Given the description of an element on the screen output the (x, y) to click on. 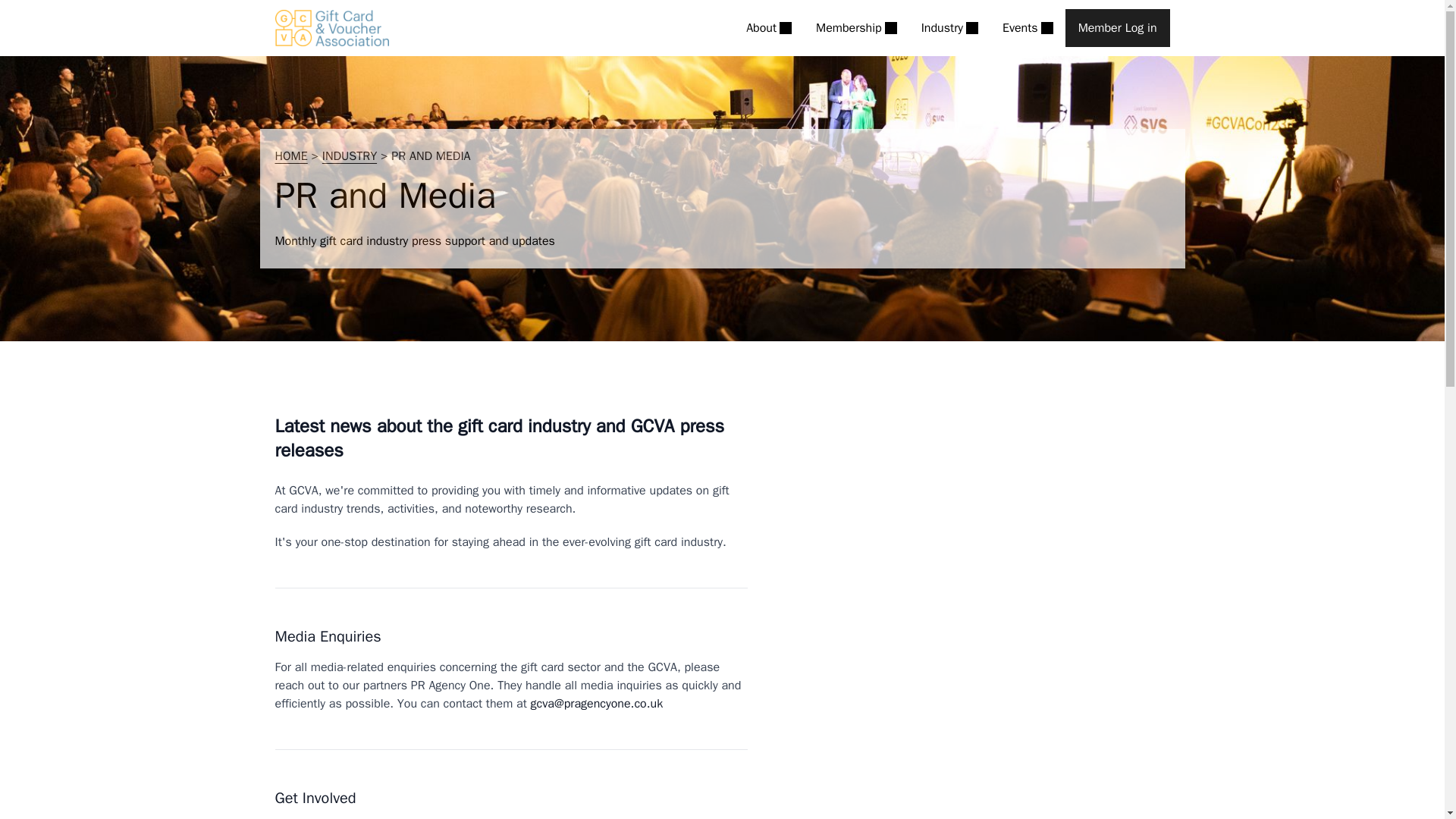
Membership (855, 27)
Events (1027, 27)
About (768, 27)
Member Log in (1117, 27)
HOME (291, 155)
Home (331, 27)
INDUSTRY (349, 155)
Industry (949, 27)
